Given the description of an element on the screen output the (x, y) to click on. 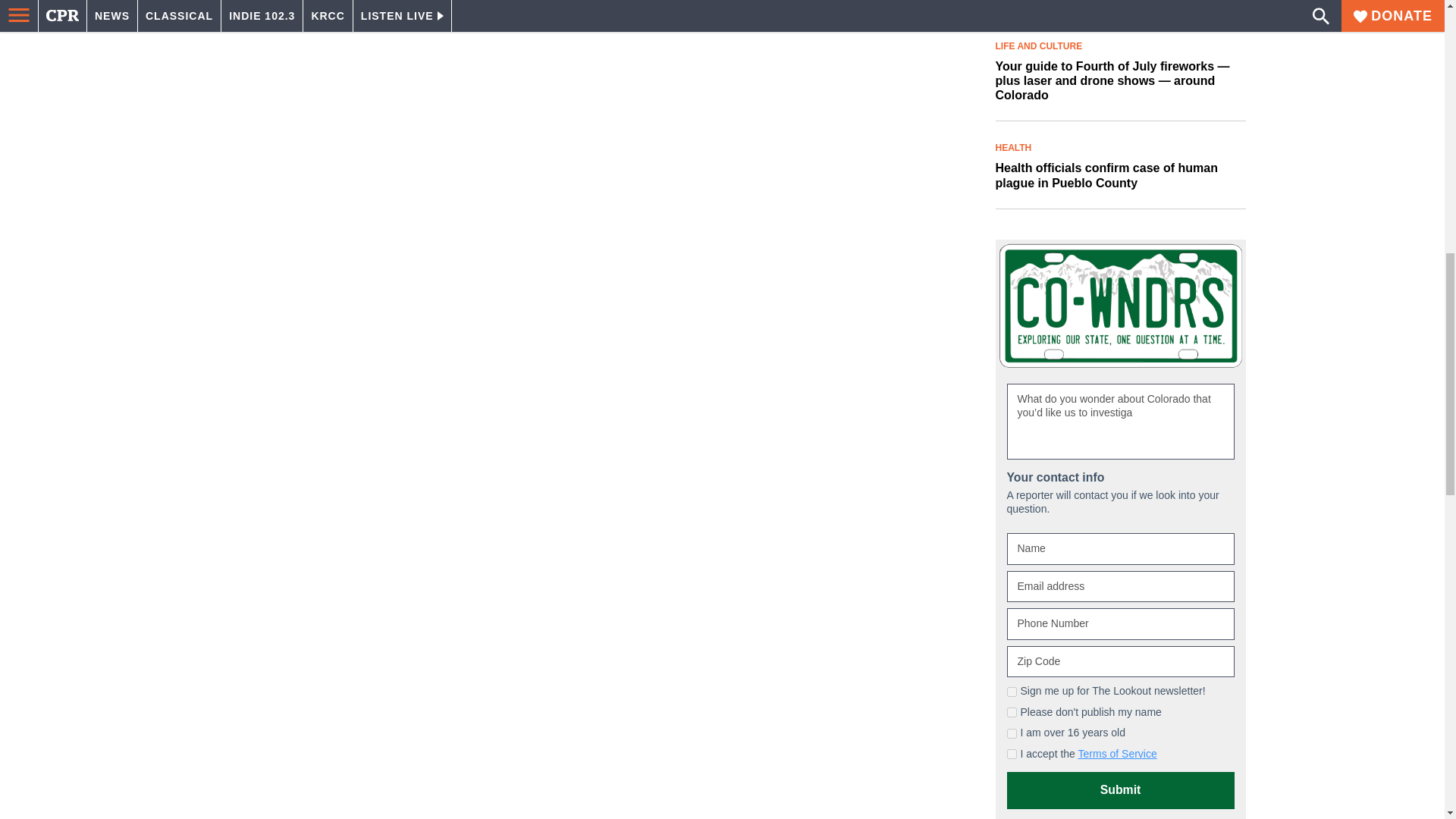
on (1011, 691)
on (1011, 754)
on (1011, 733)
on (1011, 712)
